Given the description of an element on the screen output the (x, y) to click on. 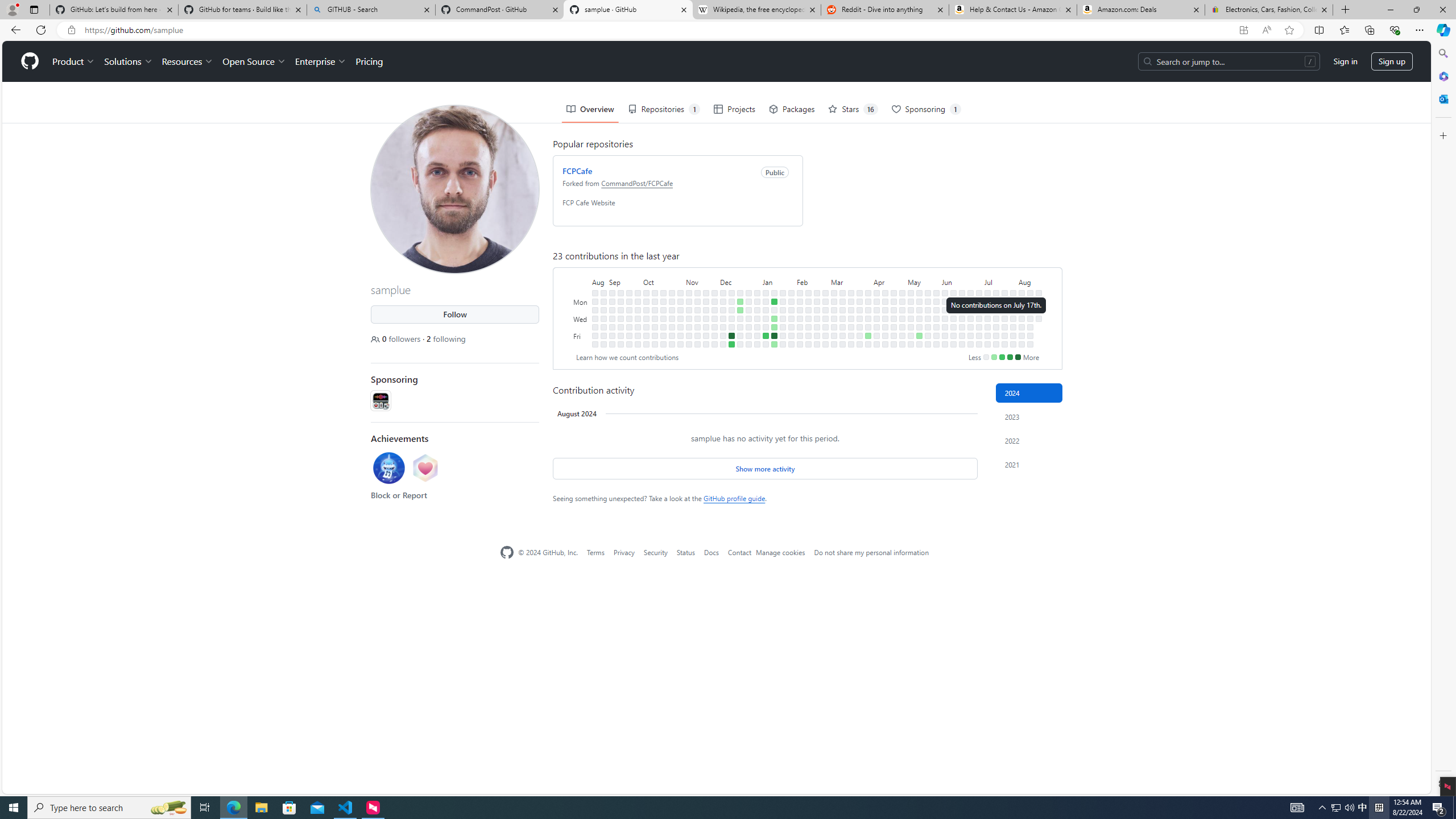
No contributions on November 10th. (688, 335)
No contributions on December 30th. (748, 343)
No contributions on July 29th. (1013, 301)
1 contribution on December 18th. (740, 301)
No contributions on July 4th. (978, 326)
Reddit - Dive into anything (884, 9)
No contributions on March 19th. (850, 309)
No contributions on May 27th. (936, 301)
Contact (739, 552)
No contributions on September 4th. (611, 301)
No contributions on March 21st. (850, 326)
No contributions on January 13th. (765, 343)
No contributions on March 8th. (834, 335)
No contributions on January 2nd. (757, 309)
